Given the description of an element on the screen output the (x, y) to click on. 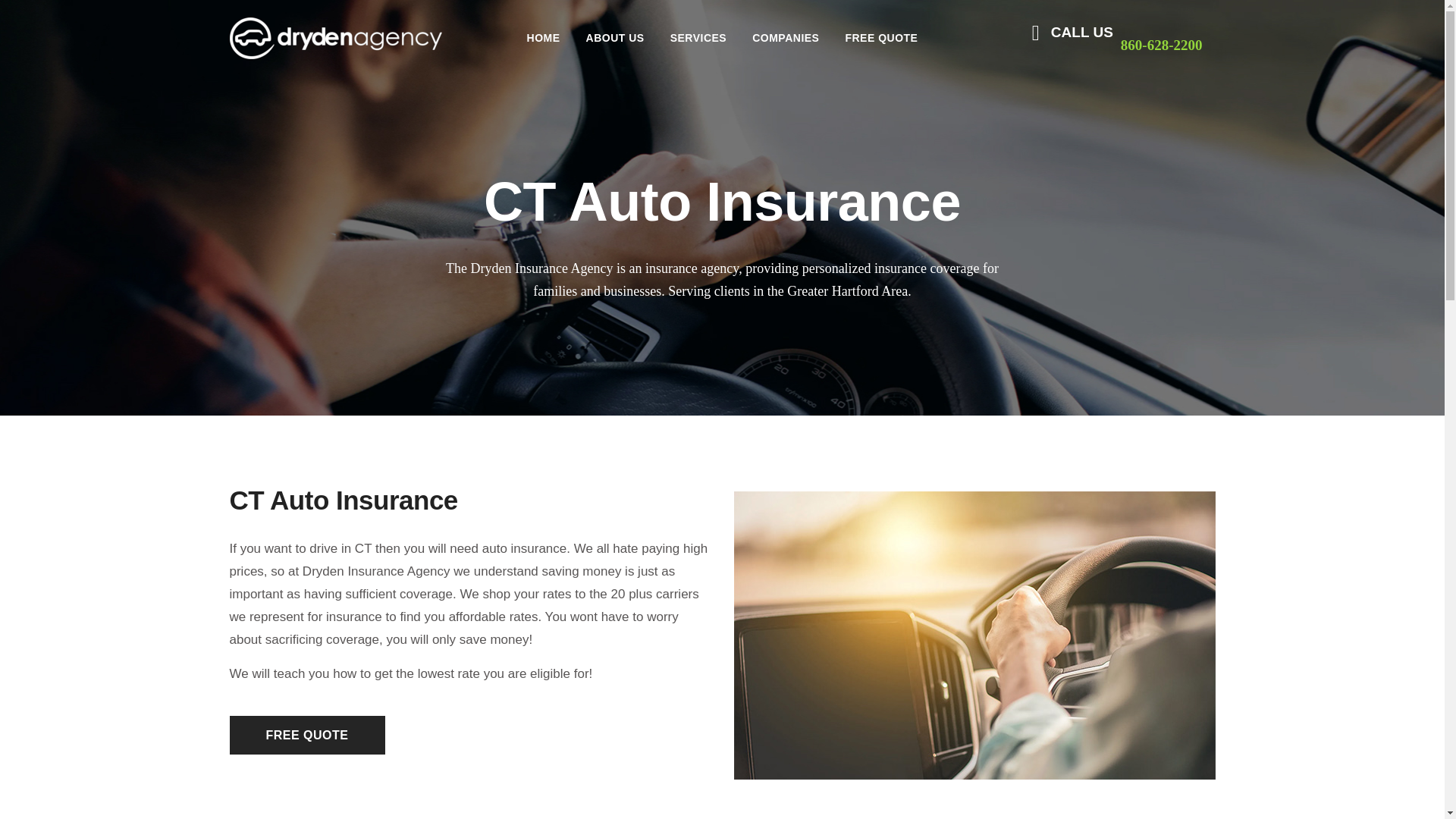
ABOUT US (615, 38)
FREE QUOTE (880, 38)
FREE QUOTE (306, 734)
SERVICES (698, 38)
COMPANIES (785, 38)
